Given the description of an element on the screen output the (x, y) to click on. 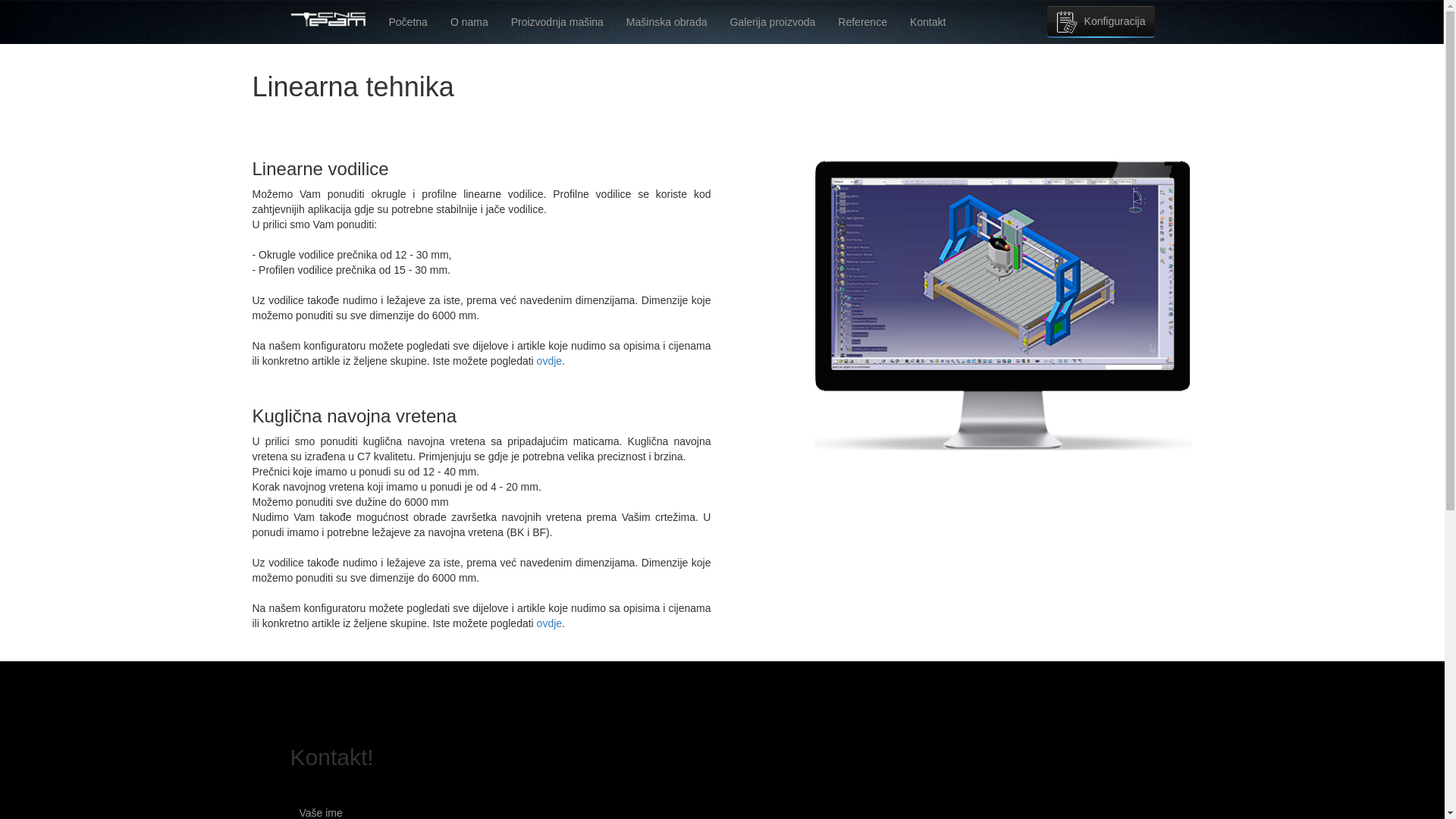
Galerija proizvoda Element type: text (772, 21)
ovdje Element type: text (548, 623)
O nama Element type: text (469, 21)
Reference Element type: text (862, 21)
Konfiguracija Element type: text (1100, 21)
ovdje Element type: text (548, 360)
Kontakt Element type: text (927, 21)
